Given the description of an element on the screen output the (x, y) to click on. 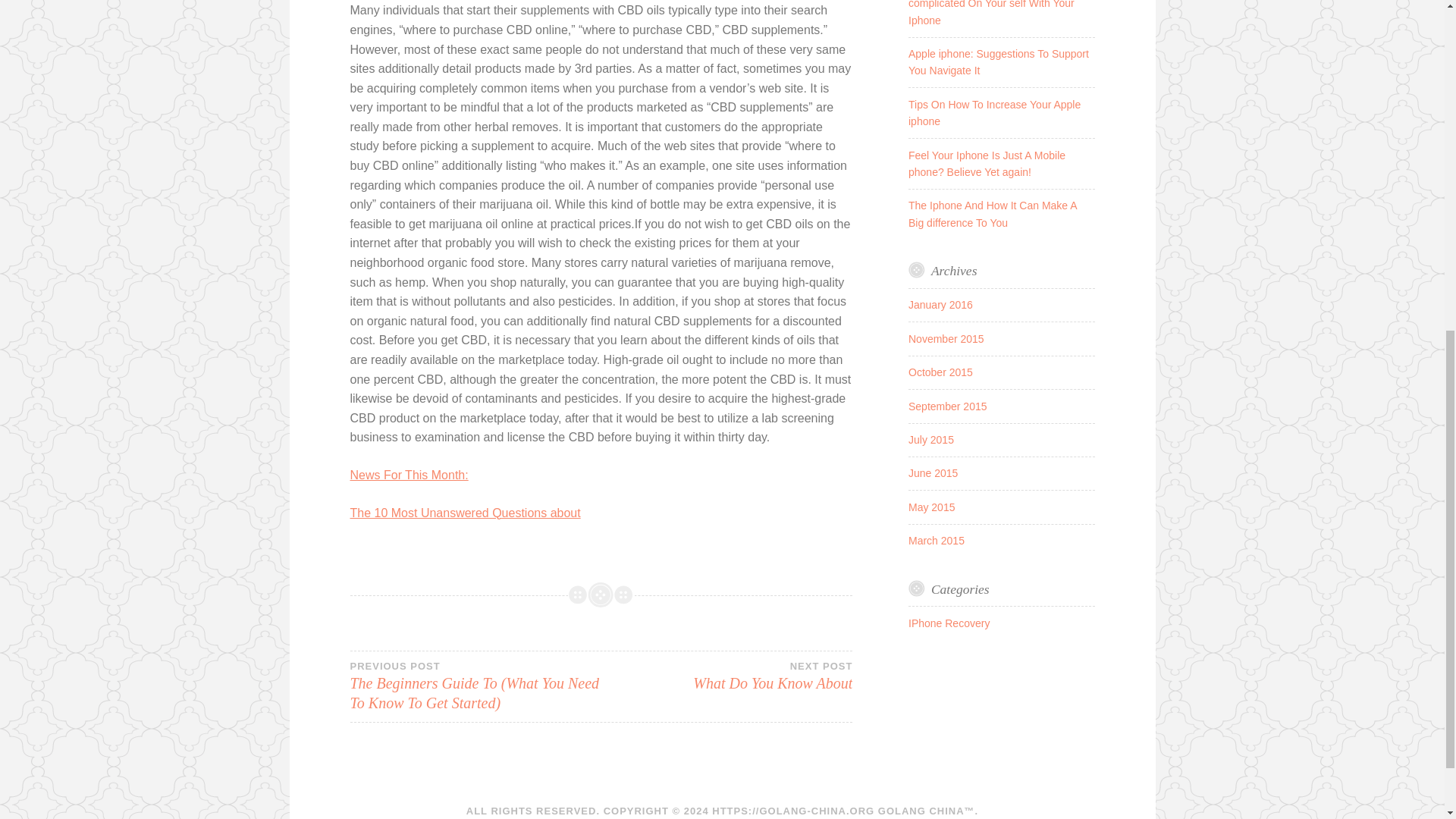
Feel Your Iphone Is Just A Mobile phone? Believe Yet again! (986, 163)
IPhone Recovery (949, 623)
May 2015 (931, 507)
The 10 Most Unanswered Questions about (465, 512)
The Iphone And How It Can Make A Big difference To You (992, 213)
June 2015 (933, 472)
Apple iphone: Suggestions To Support You Navigate It (998, 61)
October 2015 (940, 372)
September 2015 (947, 406)
March 2015 (935, 540)
January 2016 (940, 304)
Tips On How To Increase Your Apple iphone (994, 112)
November 2015 (726, 675)
News For This Month: (946, 338)
